Given the description of an element on the screen output the (x, y) to click on. 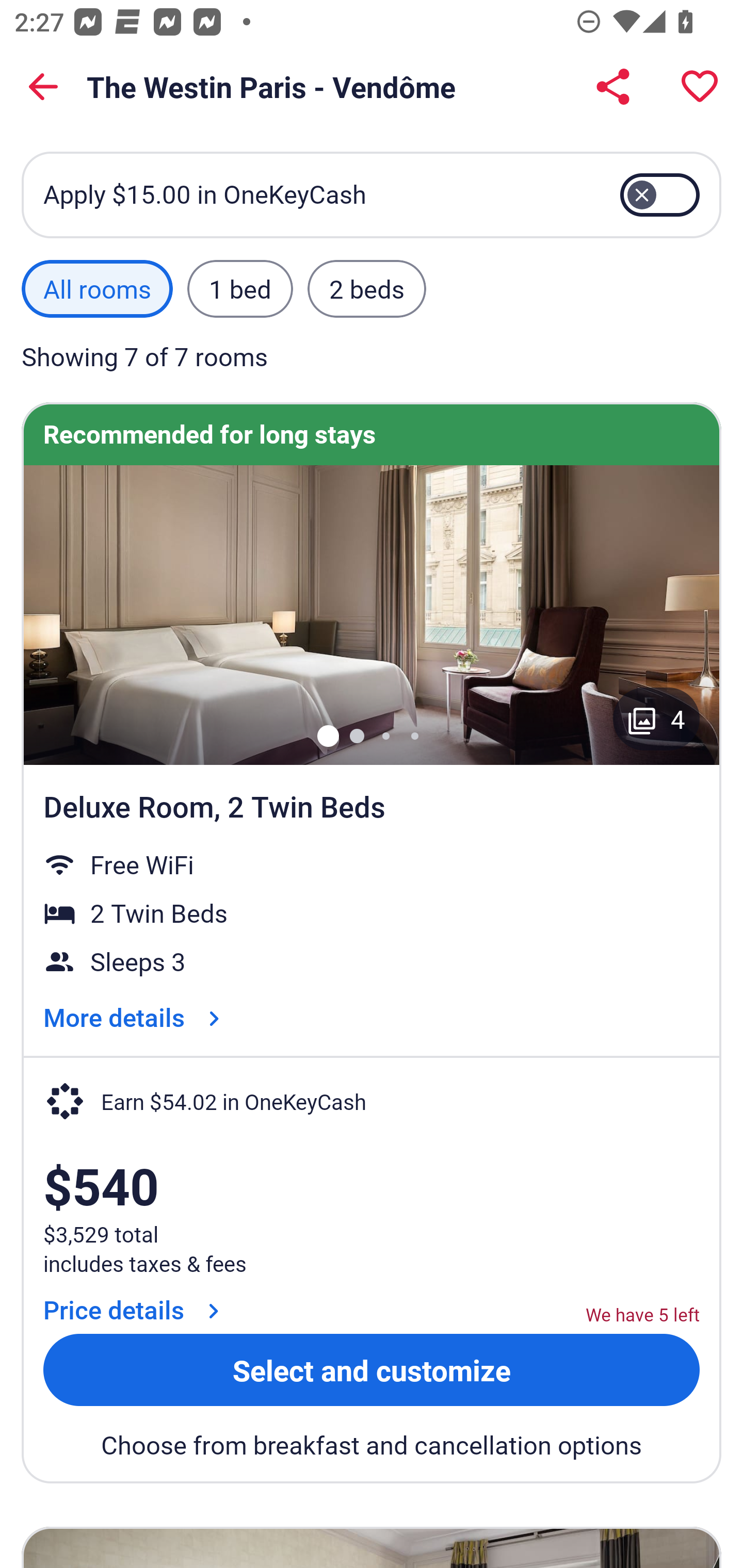
Back (43, 86)
Save property to a trip (699, 86)
Share The Westin Paris - Vendôme (612, 87)
All rooms (97, 289)
1 bed (239, 289)
2 beds (366, 289)
Gallery button with 4 images (655, 718)
